Given the description of an element on the screen output the (x, y) to click on. 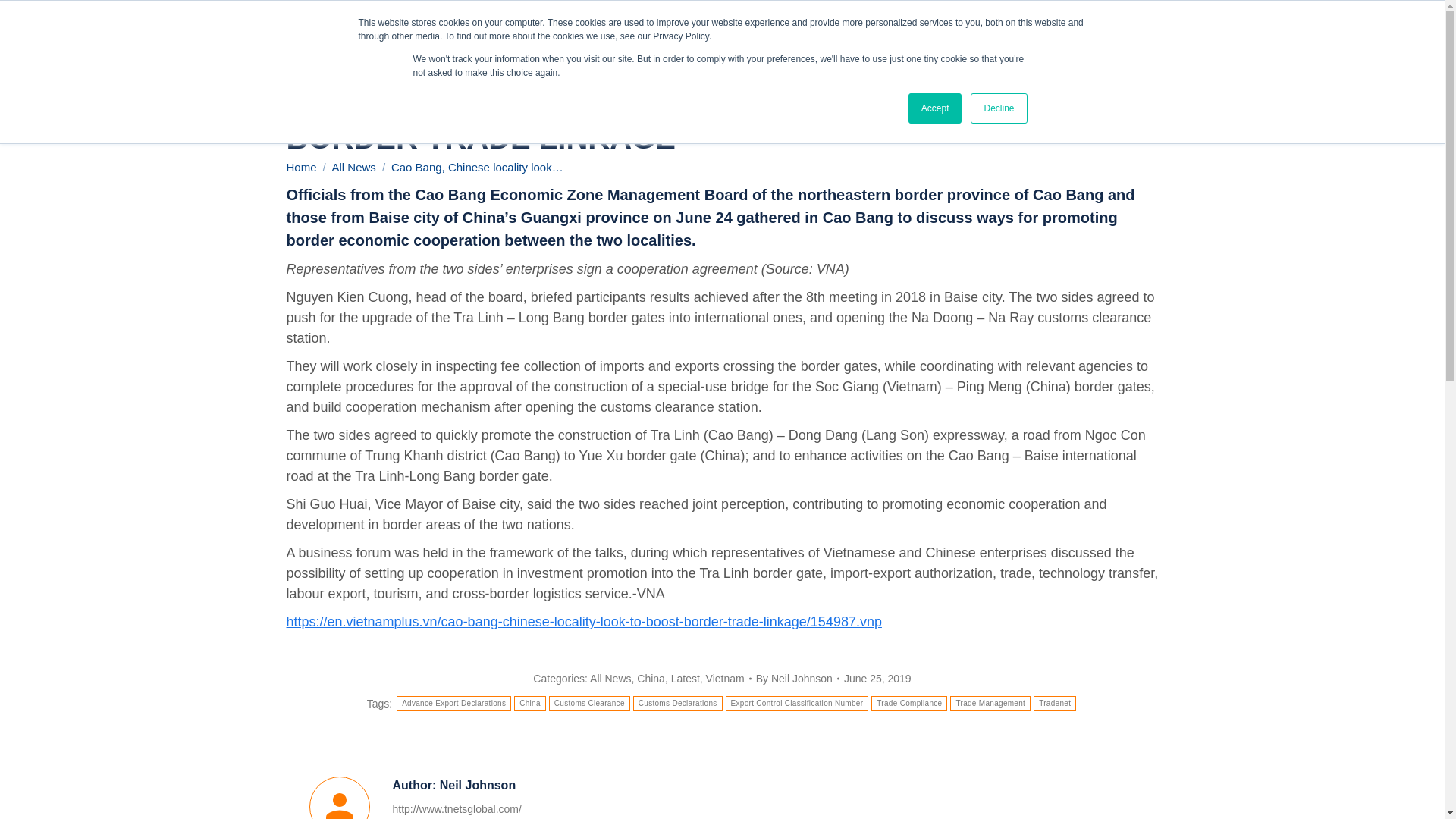
Accept (935, 108)
View all posts by Neil Johnson (797, 678)
Home (301, 166)
Industries Served (1240, 37)
Services (996, 37)
All News (353, 166)
About Us (900, 37)
Technologies (1107, 37)
Decline (998, 108)
12:40 am (877, 678)
